Given the description of an element on the screen output the (x, y) to click on. 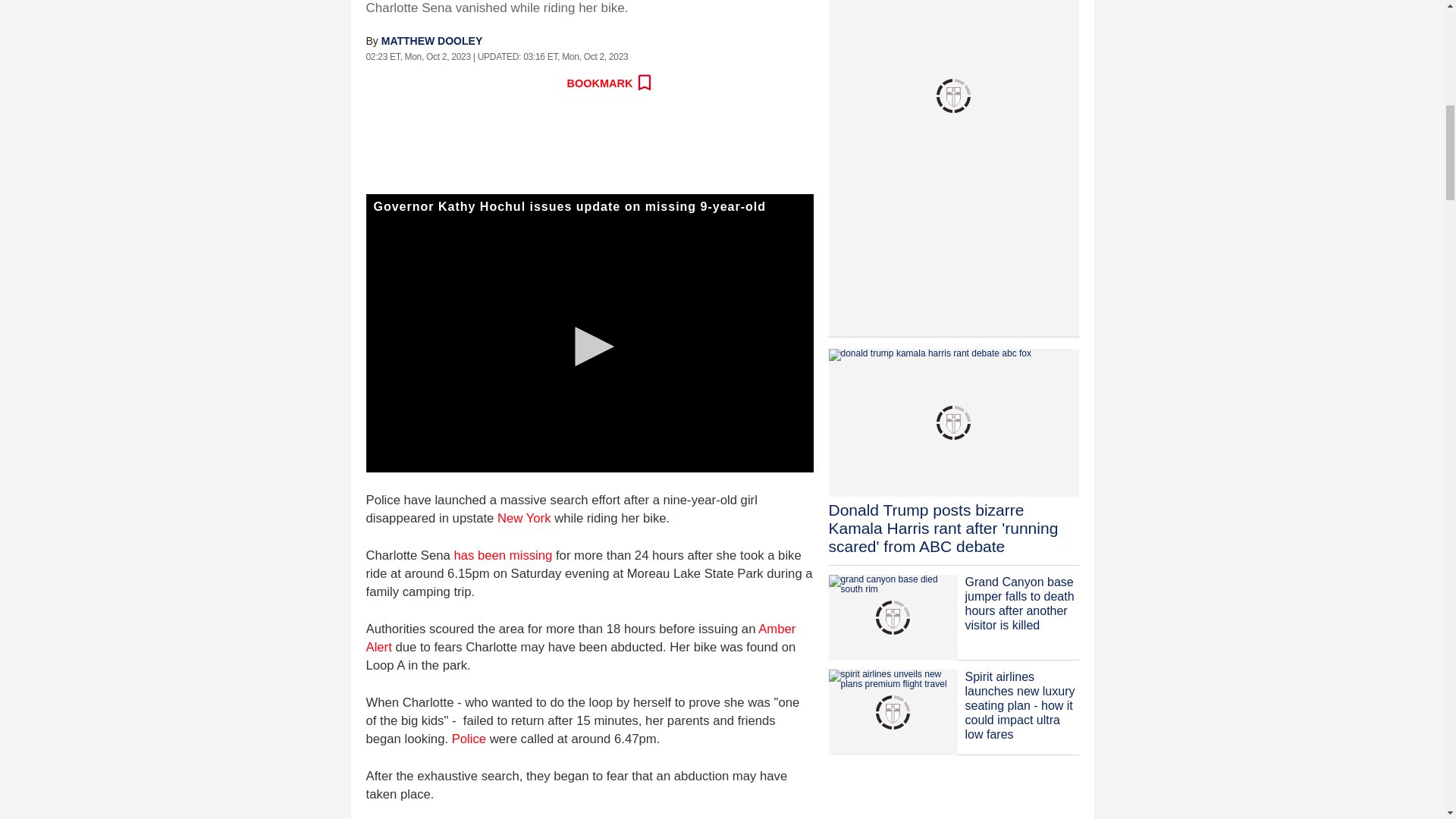
Amber Alert (579, 637)
MATTHEW DOOLEY (432, 40)
donald trump kamala harris rant debate abc fox (953, 422)
spirit airlines unveils new plans premium flight travel (892, 712)
Share on Reddit (445, 83)
Share on Twitter (411, 83)
Police (468, 739)
Share on Facebook (378, 83)
Share on Pinterest (511, 83)
New York (524, 518)
Share on LinkedIn (478, 83)
has been missing (501, 554)
